Given the description of an element on the screen output the (x, y) to click on. 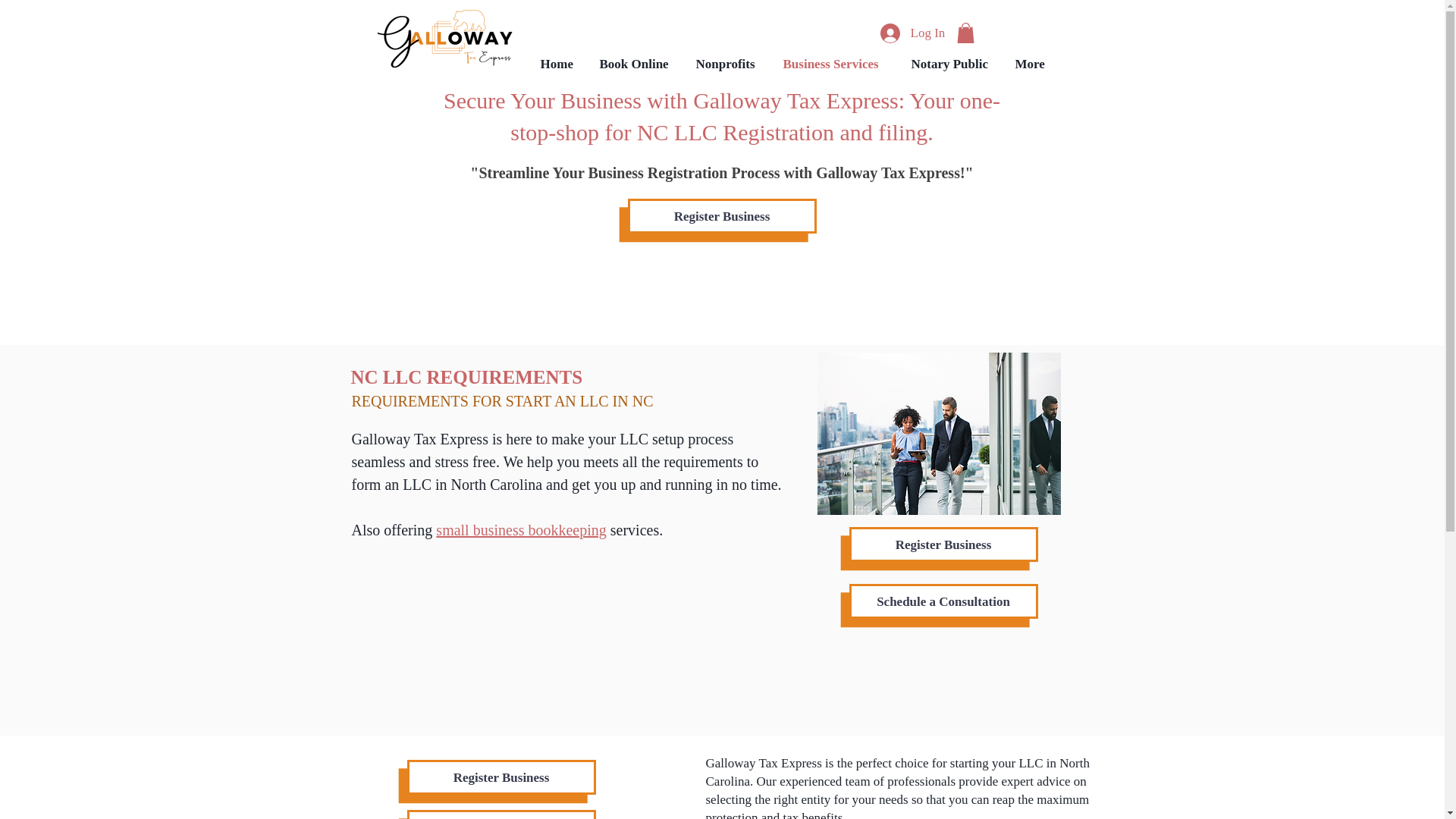
Schedule a Consultation (500, 814)
Register Business (500, 777)
Log In (908, 32)
Home (558, 64)
Galloway Tax Express (450, 38)
Notary Public (951, 64)
Schedule a Consultation (943, 601)
Nonprofits (727, 64)
Register Business (721, 216)
Register Business (943, 544)
Business Services (835, 64)
Book Online (636, 64)
small business bookkeeping (520, 529)
